Given the description of an element on the screen output the (x, y) to click on. 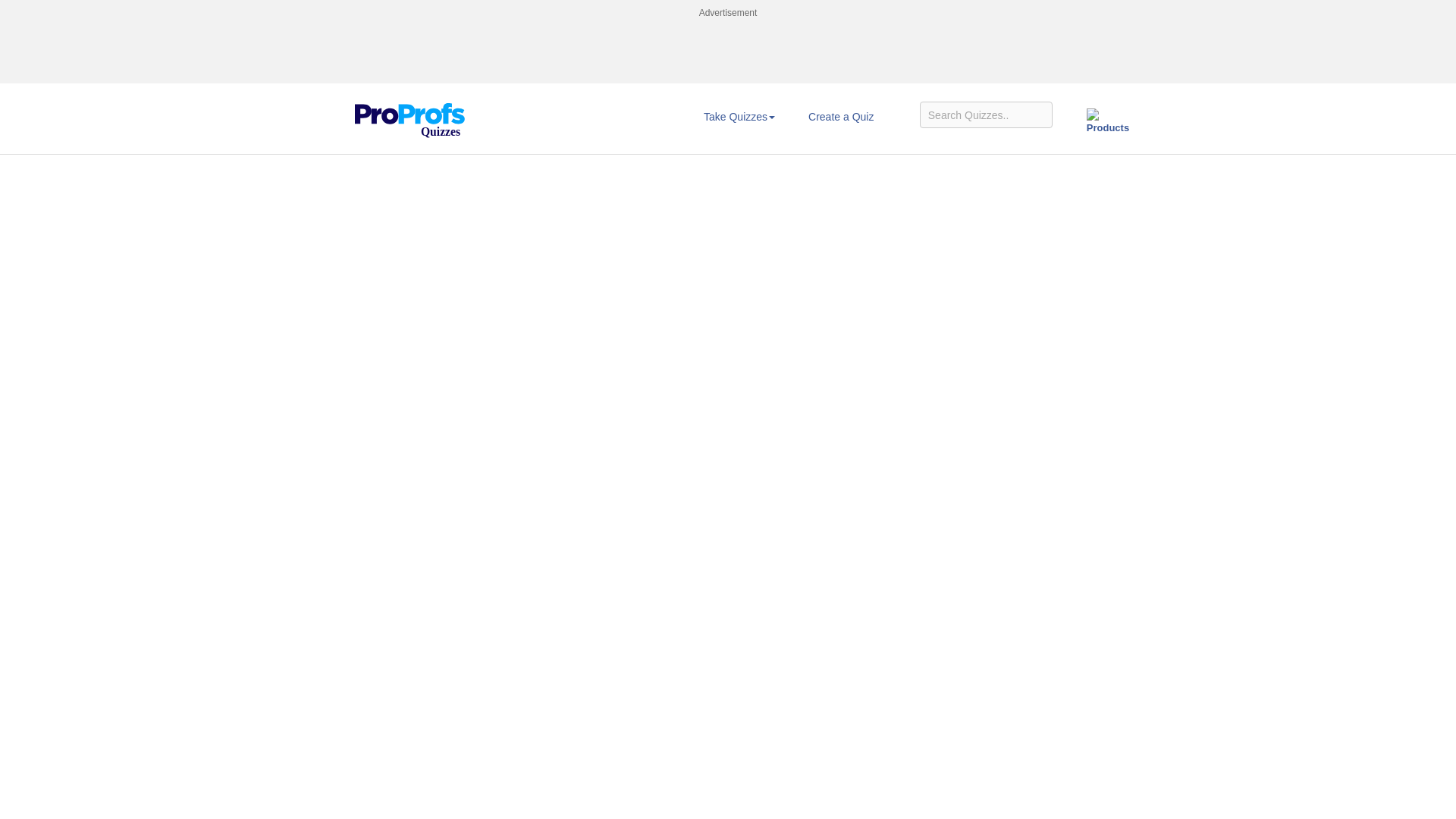
Browse (739, 116)
Take Quizzes (739, 116)
Quizzes (409, 109)
Create a Quiz (841, 116)
Quizzes (409, 120)
